Given the description of an element on the screen output the (x, y) to click on. 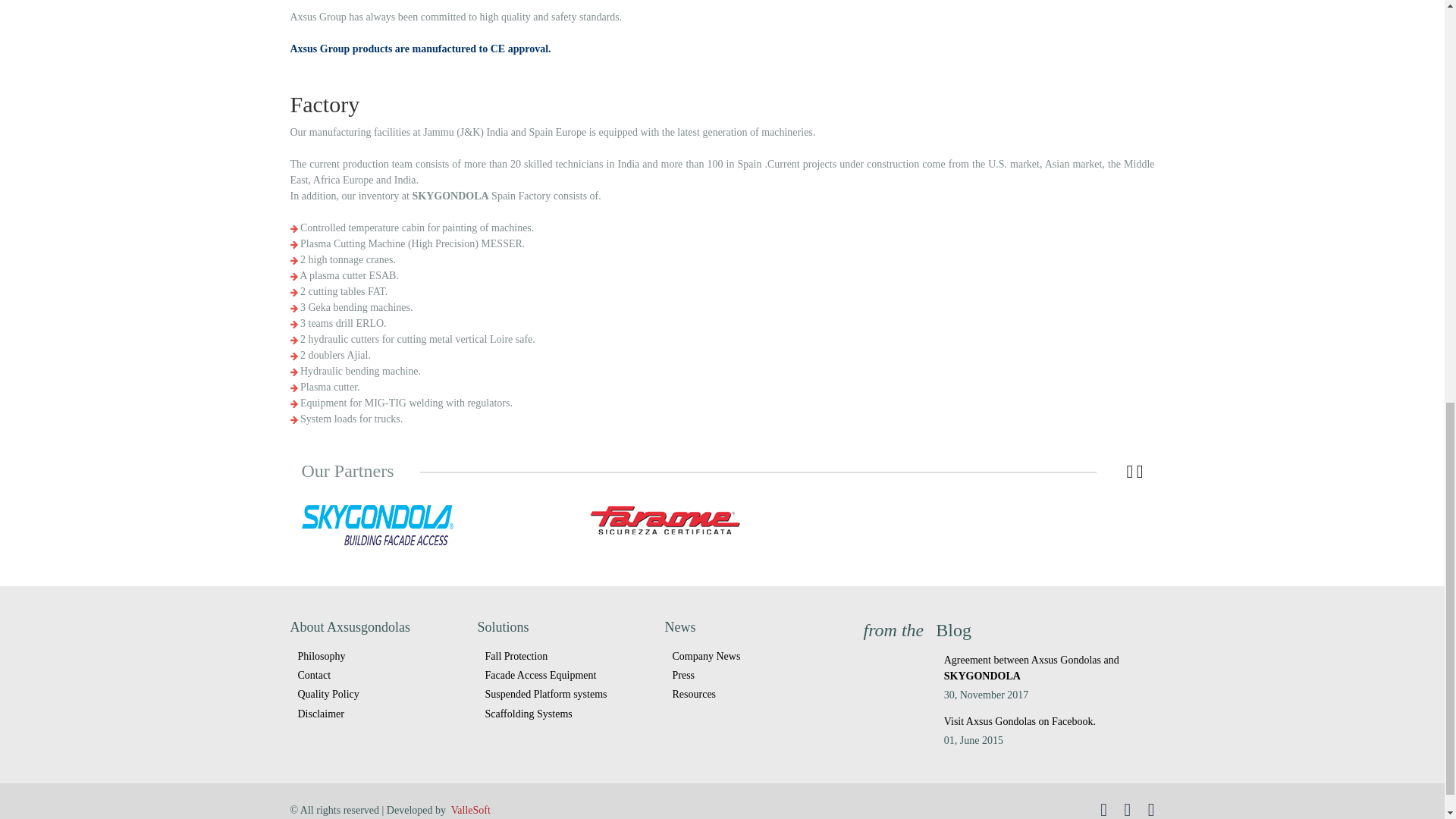
Quality Policy (377, 693)
Suspended Platform systems (565, 693)
Contact (377, 674)
Fall Protection (565, 656)
Philosophy (377, 656)
Disclaimer (377, 713)
Facade Access Equipment (565, 674)
Scaffolding Systems (565, 713)
